Given the description of an element on the screen output the (x, y) to click on. 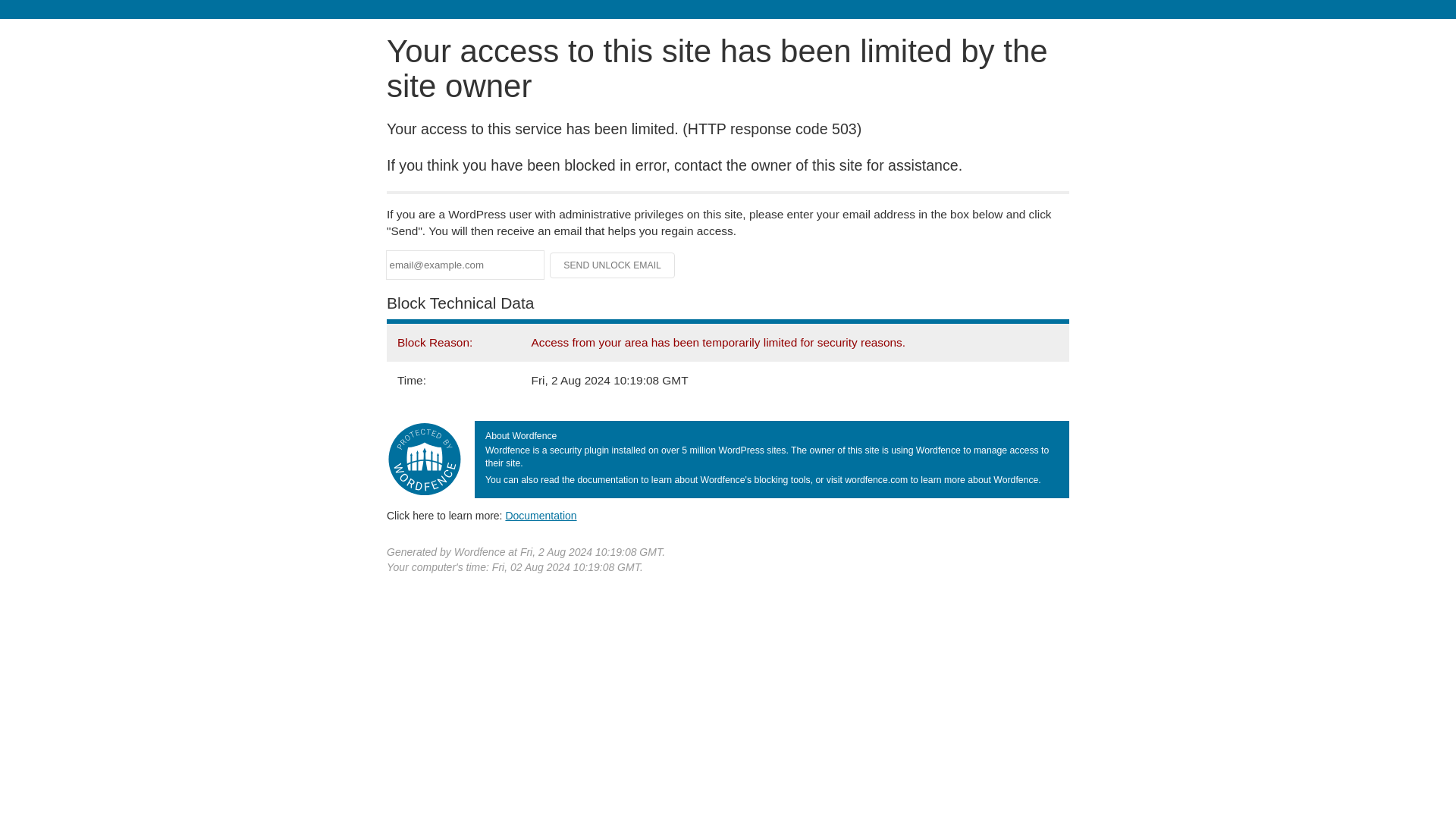
Documentation (540, 515)
Send Unlock Email (612, 265)
Send Unlock Email (612, 265)
